Given the description of an element on the screen output the (x, y) to click on. 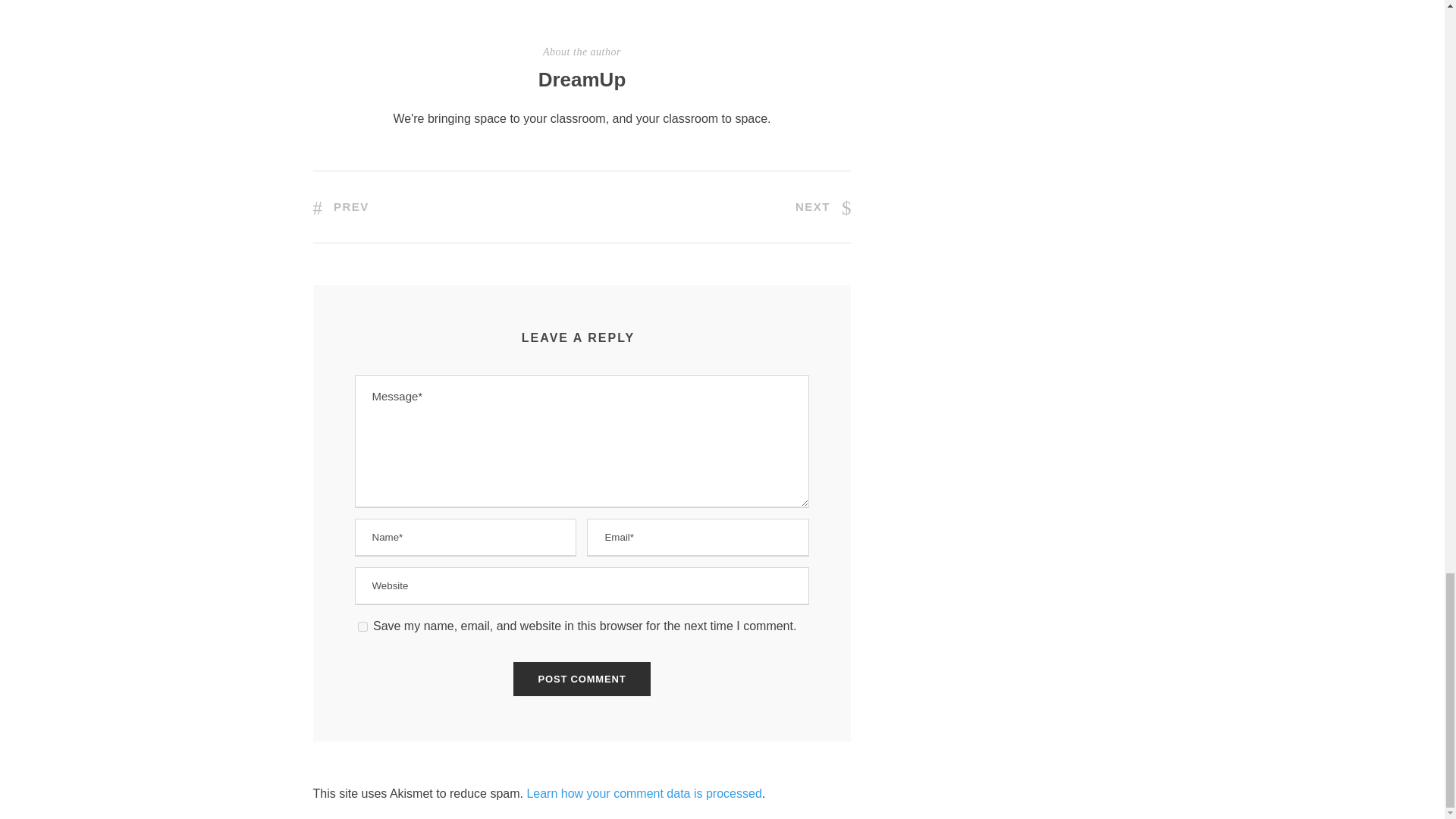
Posts by DreamUp (582, 78)
yes (363, 626)
Post Comment (581, 678)
